Given the description of an element on the screen output the (x, y) to click on. 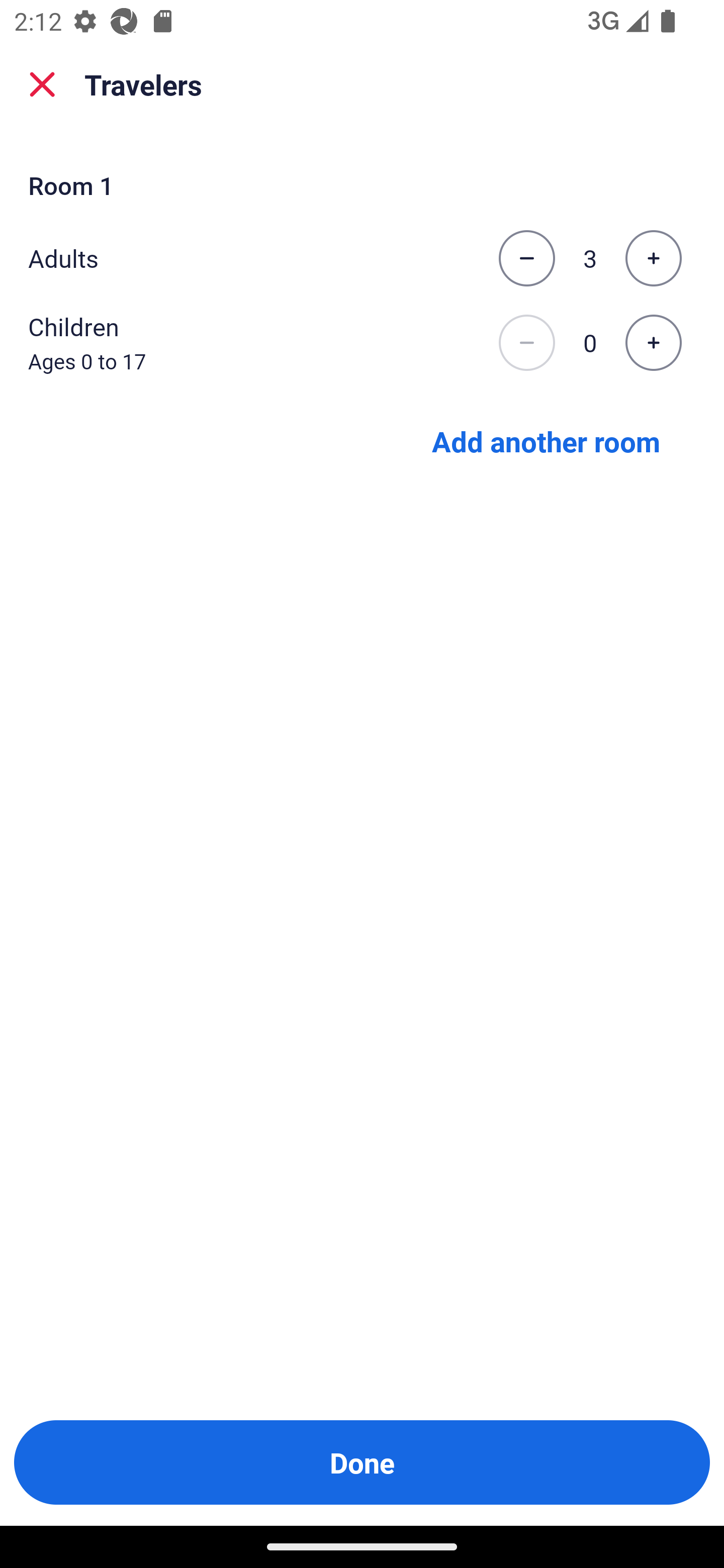
close (42, 84)
Decrease the number of adults (526, 258)
Increase the number of adults (653, 258)
Decrease the number of children (526, 343)
Increase the number of children (653, 343)
Add another room (545, 440)
Done (361, 1462)
